Given the description of an element on the screen output the (x, y) to click on. 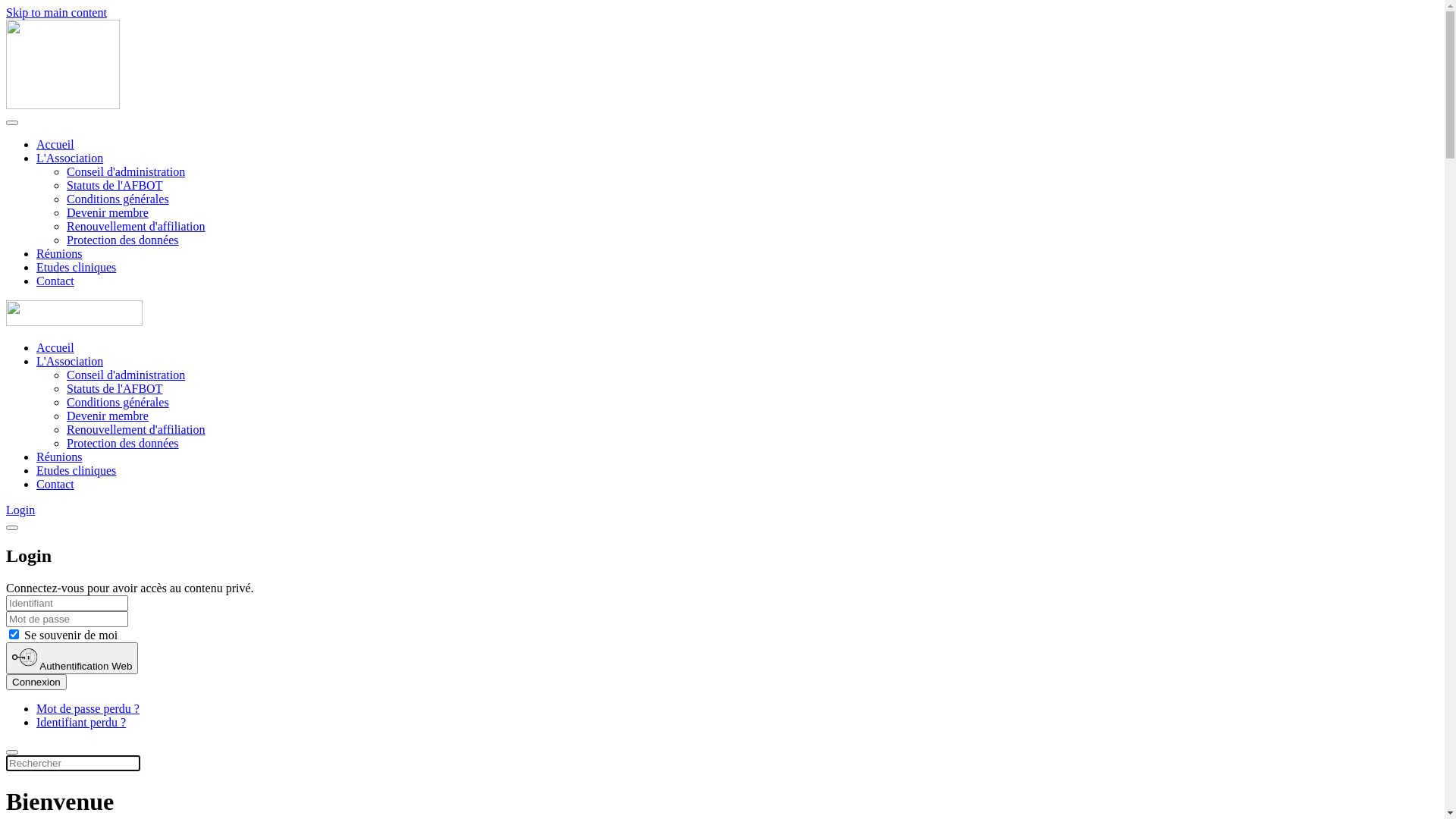
L'Association Element type: text (69, 157)
Statuts de l'AFBOT Element type: text (114, 388)
Contact Element type: text (55, 483)
Skip to main content Element type: text (56, 12)
Accueil Element type: text (55, 144)
Conseil d'administration Element type: text (125, 171)
Connexion Element type: text (36, 682)
Etudes cliniques Element type: text (76, 266)
Renouvellement d'affiliation Element type: text (135, 225)
Accueil Element type: text (55, 347)
Etudes cliniques Element type: text (76, 470)
Identifiant perdu ? Element type: text (80, 721)
Conseil d'administration Element type: text (125, 374)
L'Association Element type: text (69, 360)
Contact Element type: text (55, 280)
Mot de passe perdu ? Element type: text (87, 708)
Statuts de l'AFBOT Element type: text (114, 184)
Renouvellement d'affiliation Element type: text (135, 429)
Authentification Web Element type: text (72, 658)
Devenir membre Element type: text (107, 415)
Login Element type: text (20, 509)
Devenir membre Element type: text (107, 212)
